Given the description of an element on the screen output the (x, y) to click on. 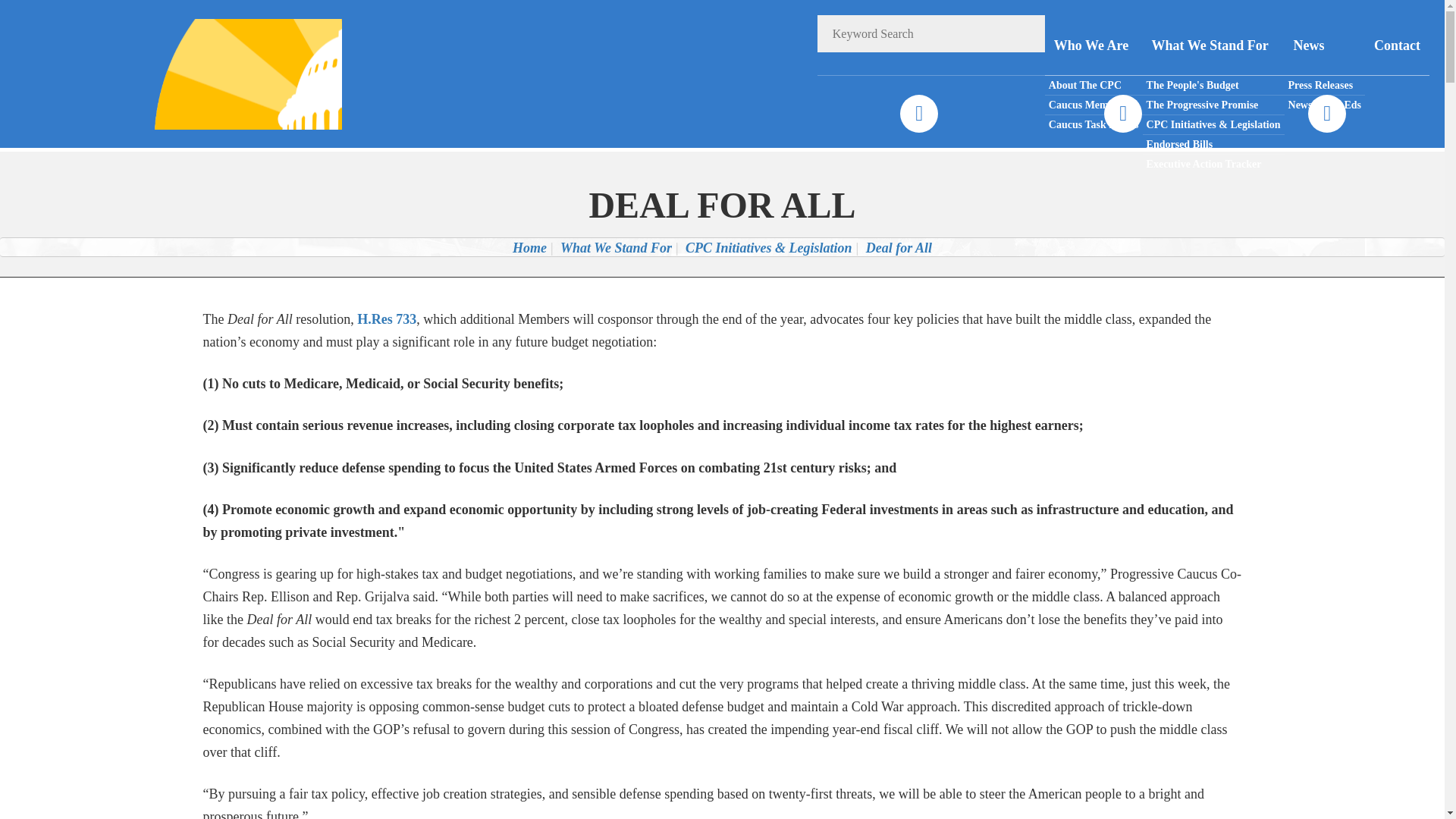
Home (529, 247)
H.Res 733 (386, 319)
The Progressive Promise (1213, 105)
YouTube (1326, 113)
Contact (1397, 45)
What We Stand For (1213, 45)
Executive Action Tracker (1213, 163)
The People's Budget (1213, 85)
Press Releases (1324, 85)
Go (1026, 33)
Facebook (918, 113)
CONGRESSIONAL PROGRESSIVE CAUCUS (228, 73)
News (1324, 45)
Twitter (1122, 113)
Endorsed Bills (1213, 144)
